Given the description of an element on the screen output the (x, y) to click on. 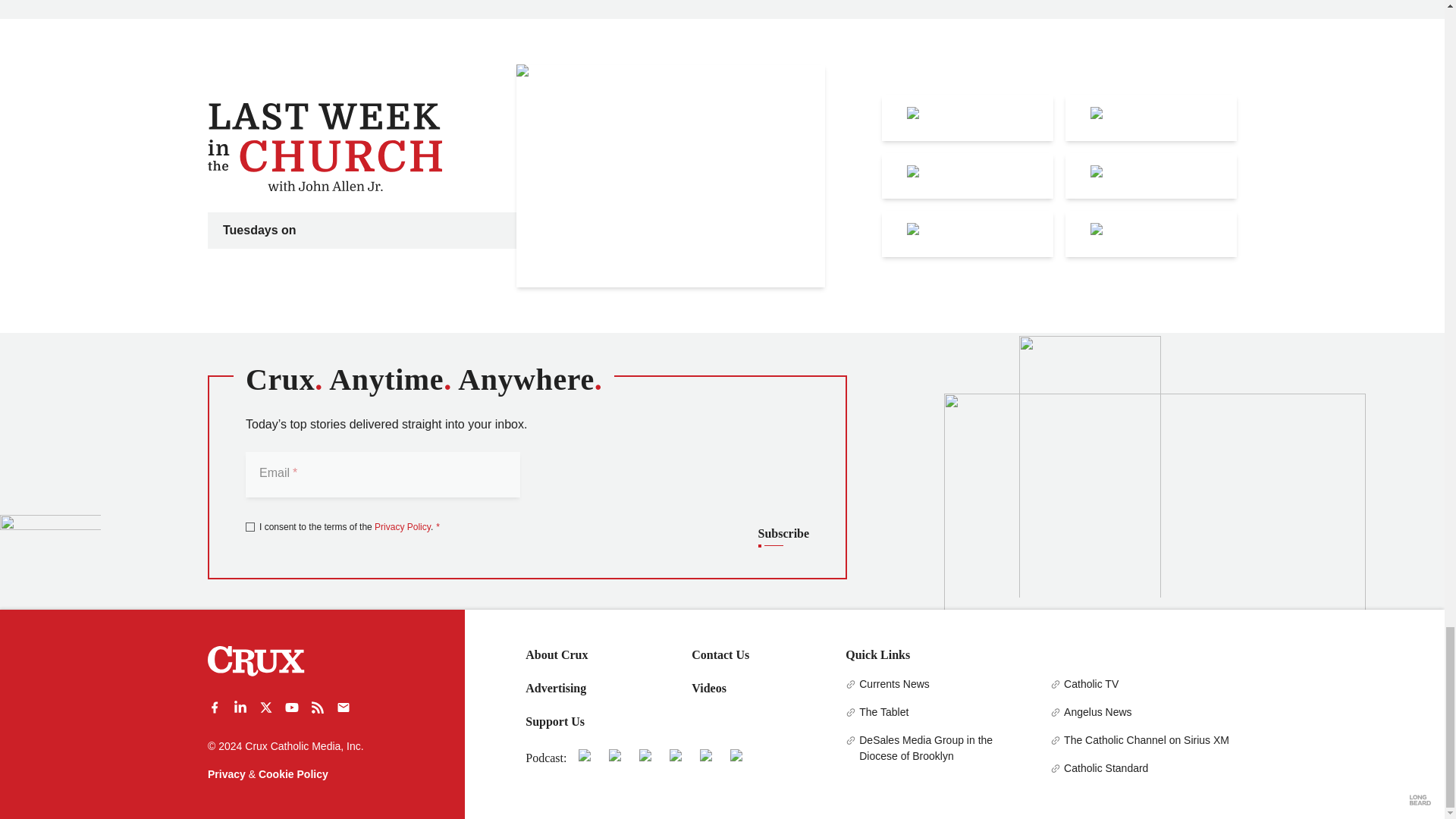
true (250, 526)
